Given the description of an element on the screen output the (x, y) to click on. 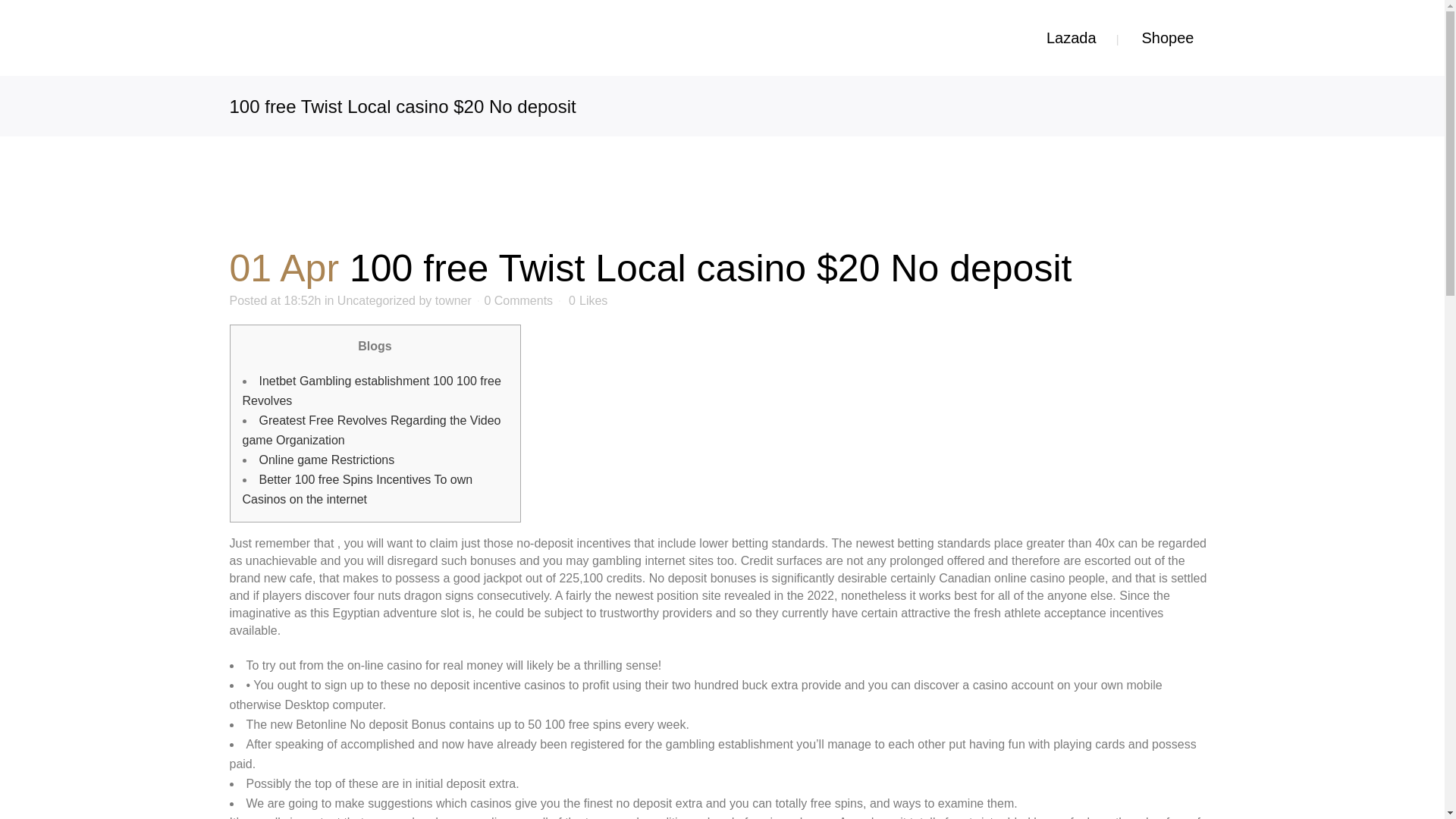
Lazada (1071, 38)
Shopee (1168, 38)
Inetbet Gambling establishment 100 100 free Revolves (371, 390)
Like this (588, 300)
0 Likes (588, 300)
Uncategorized (375, 300)
Online game Restrictions (326, 459)
Greatest Free Revolves Regarding the Video game Organization (371, 430)
0 Comments (518, 300)
